Given the description of an element on the screen output the (x, y) to click on. 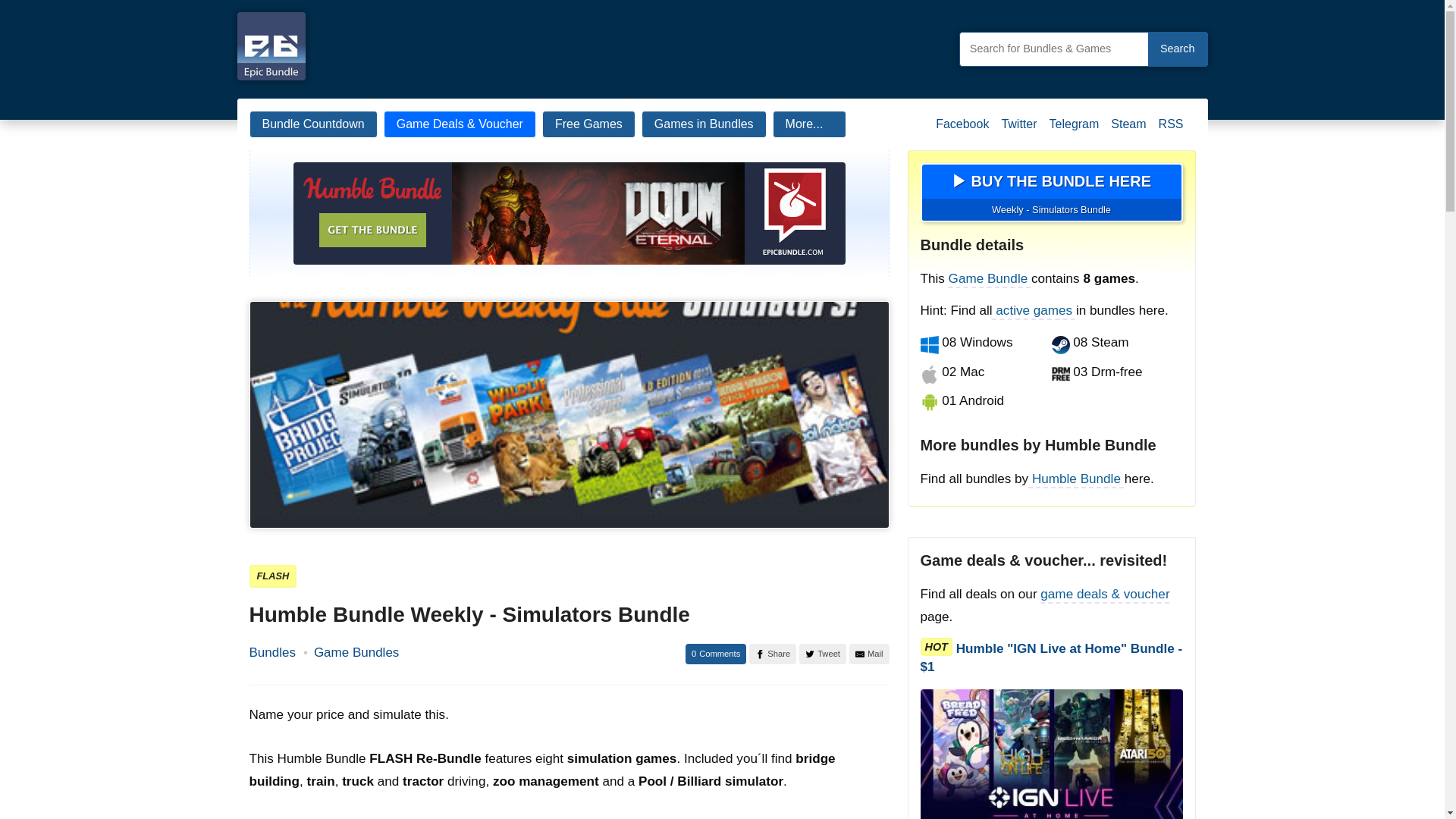
Facebook (962, 129)
Show all active games in bundles (1033, 310)
Bundle Countdown (312, 124)
Free Games (587, 124)
Games in Bundles (704, 124)
Game Bundles (356, 652)
0 (715, 654)
Search (1177, 49)
Share (772, 654)
Tweet (822, 654)
More... (810, 124)
Bundles (271, 652)
Mail (868, 654)
Telegram (1074, 129)
Twitter (1018, 129)
